Given the description of an element on the screen output the (x, y) to click on. 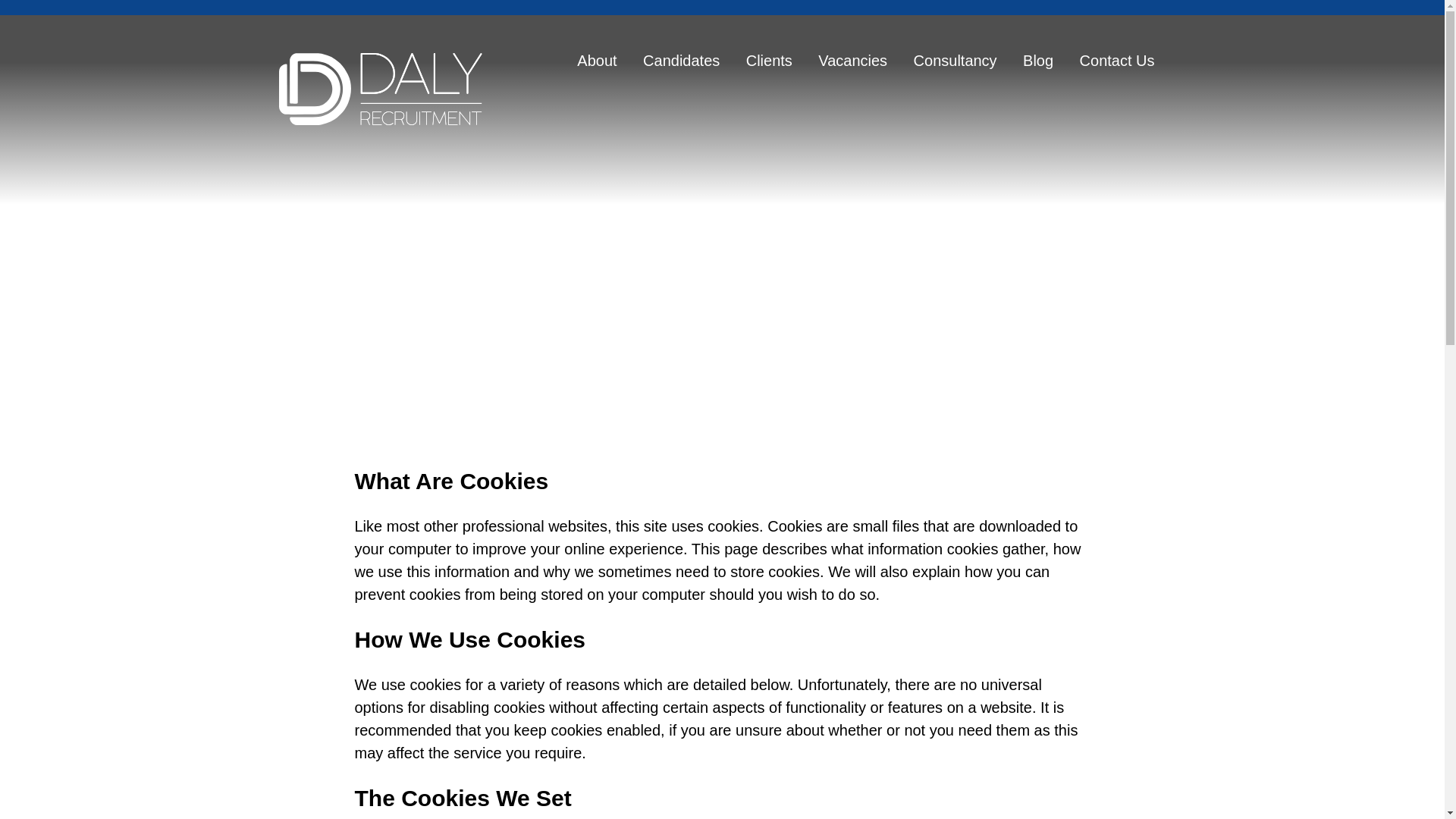
Blog (1037, 62)
Candidates (681, 62)
Contact Us (1117, 62)
Consultancy (955, 62)
Vacancies (852, 62)
Clients (768, 62)
About (595, 62)
